Given the description of an element on the screen output the (x, y) to click on. 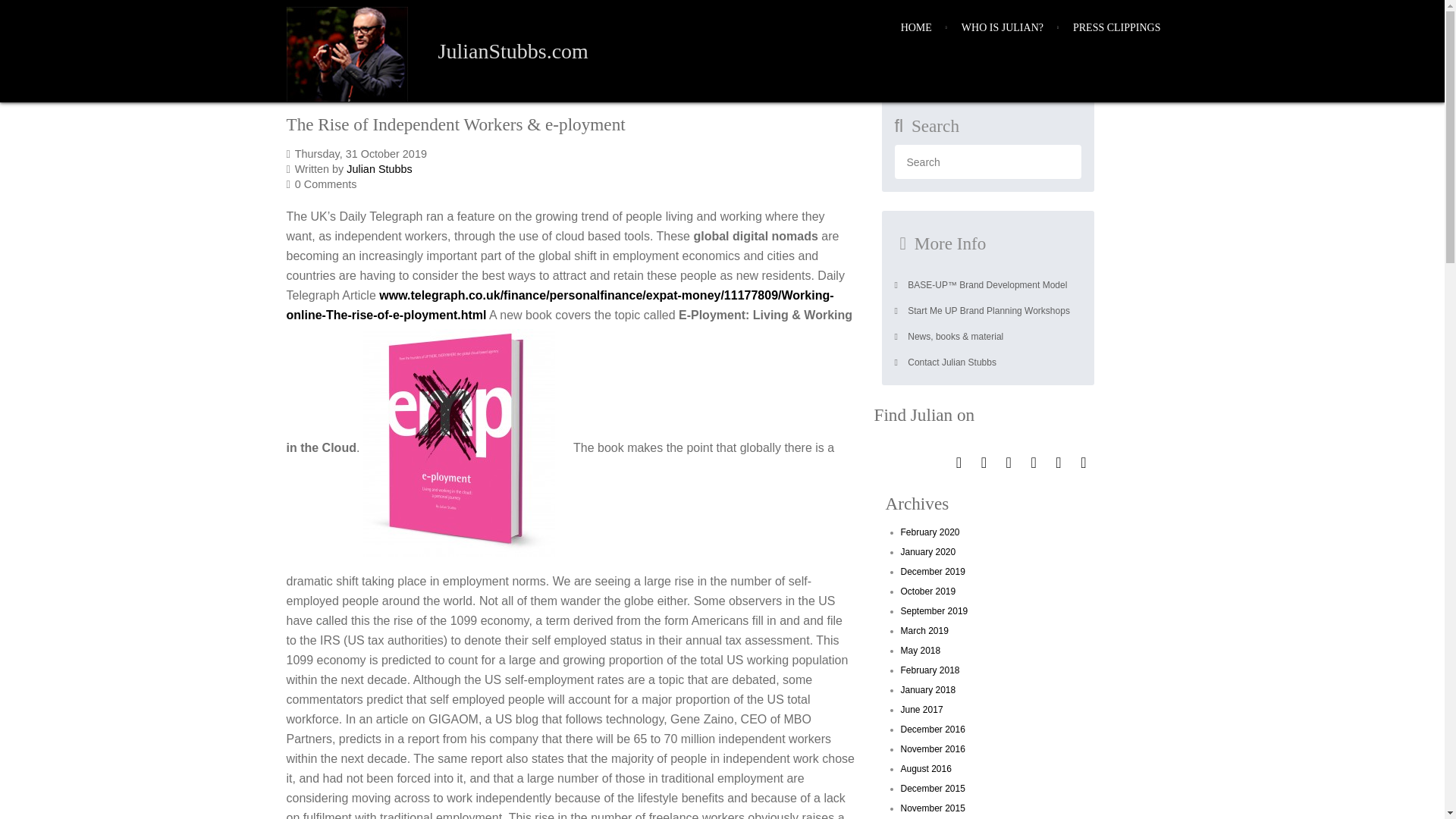
PRESS CLIPPINGS (1117, 28)
February 2020 (930, 532)
Julian Stubbs (379, 168)
December 2016 (933, 728)
December 2015 (933, 787)
Contact Julian Stubbs (988, 362)
January 2018 (928, 689)
June 2017 (922, 709)
Start Me UP Brand Planning Workshops (988, 311)
February 2018 (930, 670)
November 2015 (933, 808)
May 2018 (920, 650)
December 2019 (933, 571)
WHO IS JULIAN? (1002, 28)
October 2019 (928, 591)
